Given the description of an element on the screen output the (x, y) to click on. 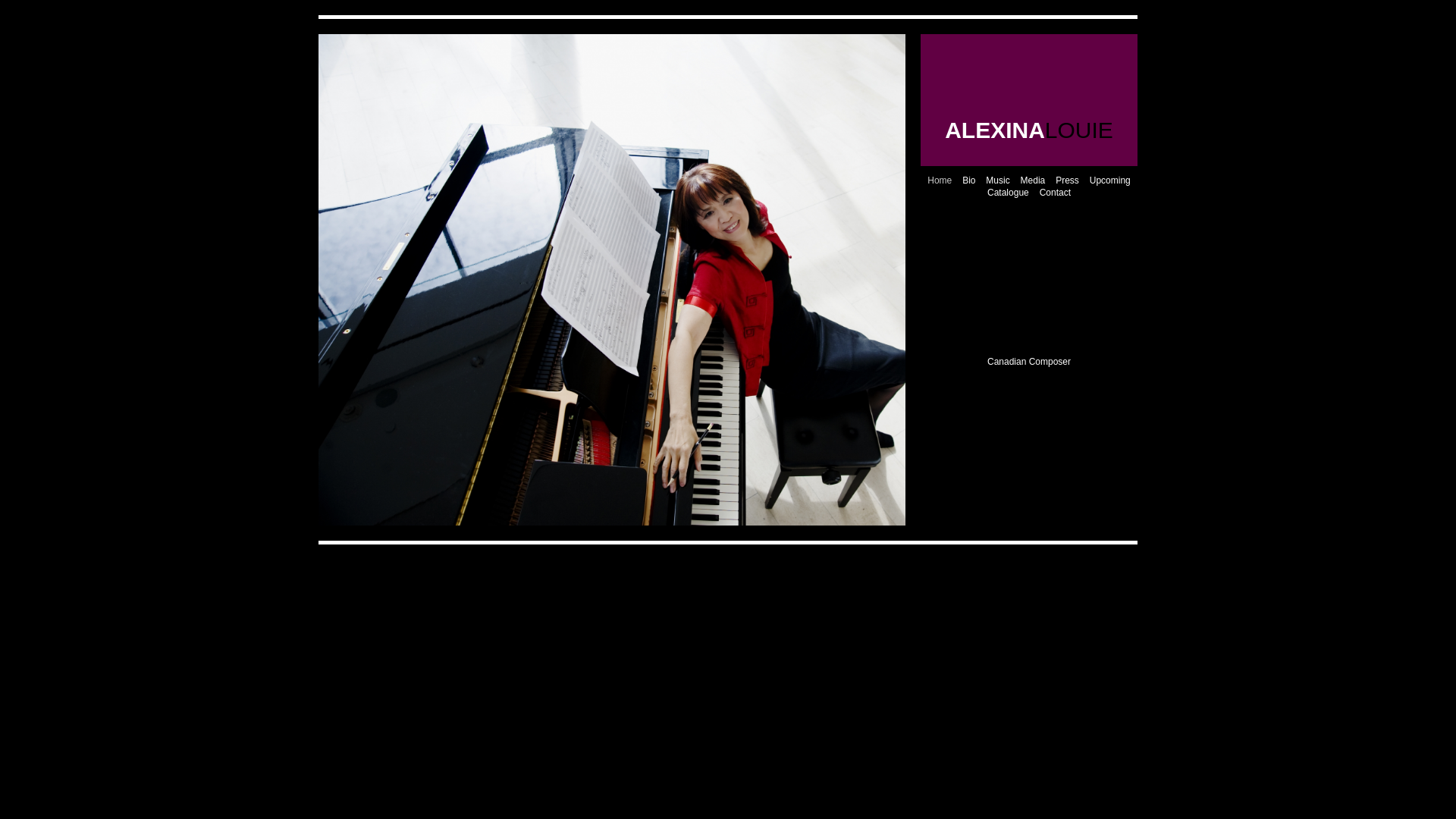
Home Element type: text (939, 180)
Catalogue Element type: text (1008, 192)
Press Element type: text (1067, 180)
Upcoming Element type: text (1109, 180)
Bio Element type: text (968, 180)
Contact Element type: text (1054, 192)
Media Element type: text (1032, 180)
Music Element type: text (997, 180)
